Given the description of an element on the screen output the (x, y) to click on. 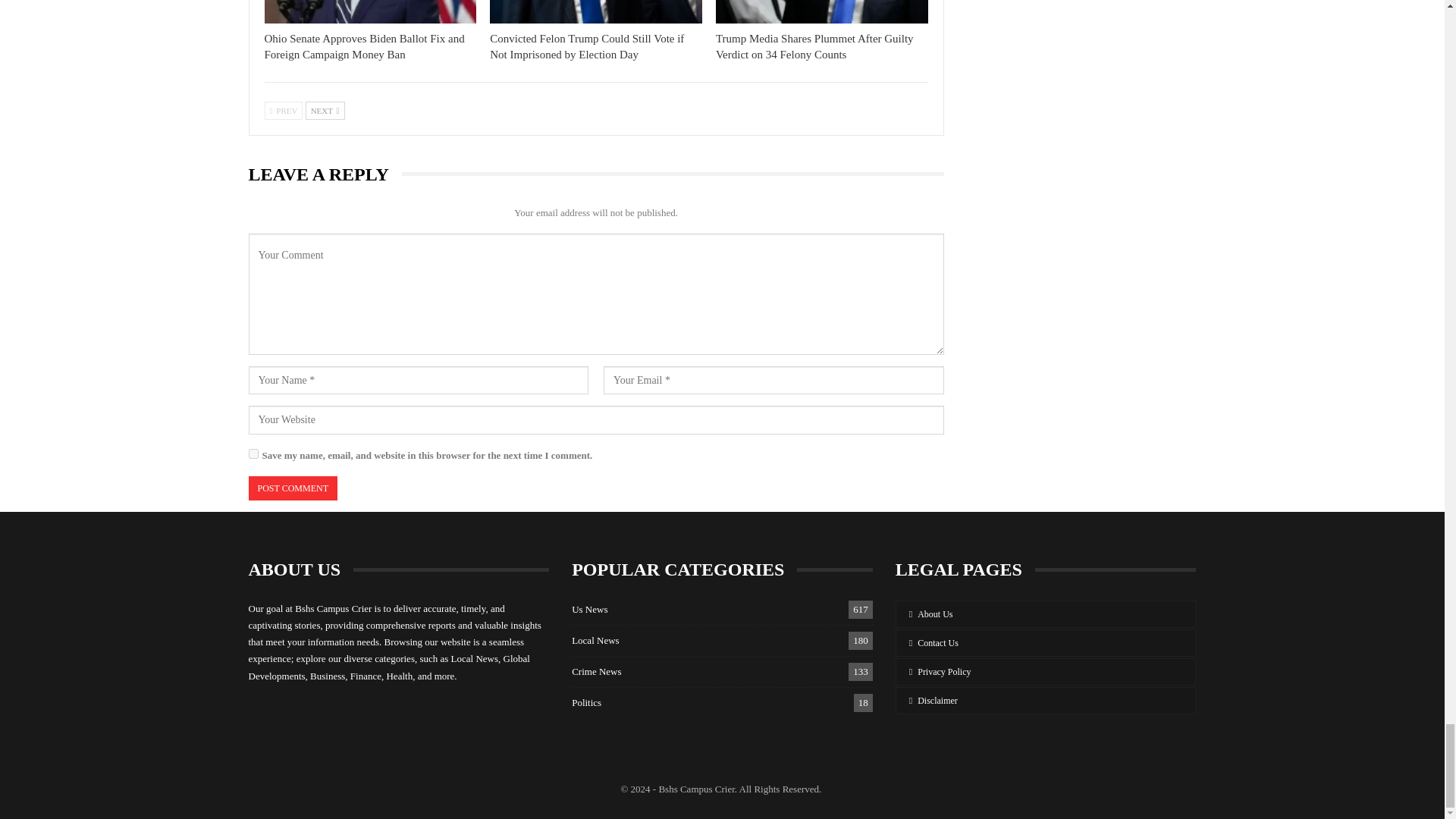
yes (253, 453)
Post Comment (292, 488)
